Given the description of an element on the screen output the (x, y) to click on. 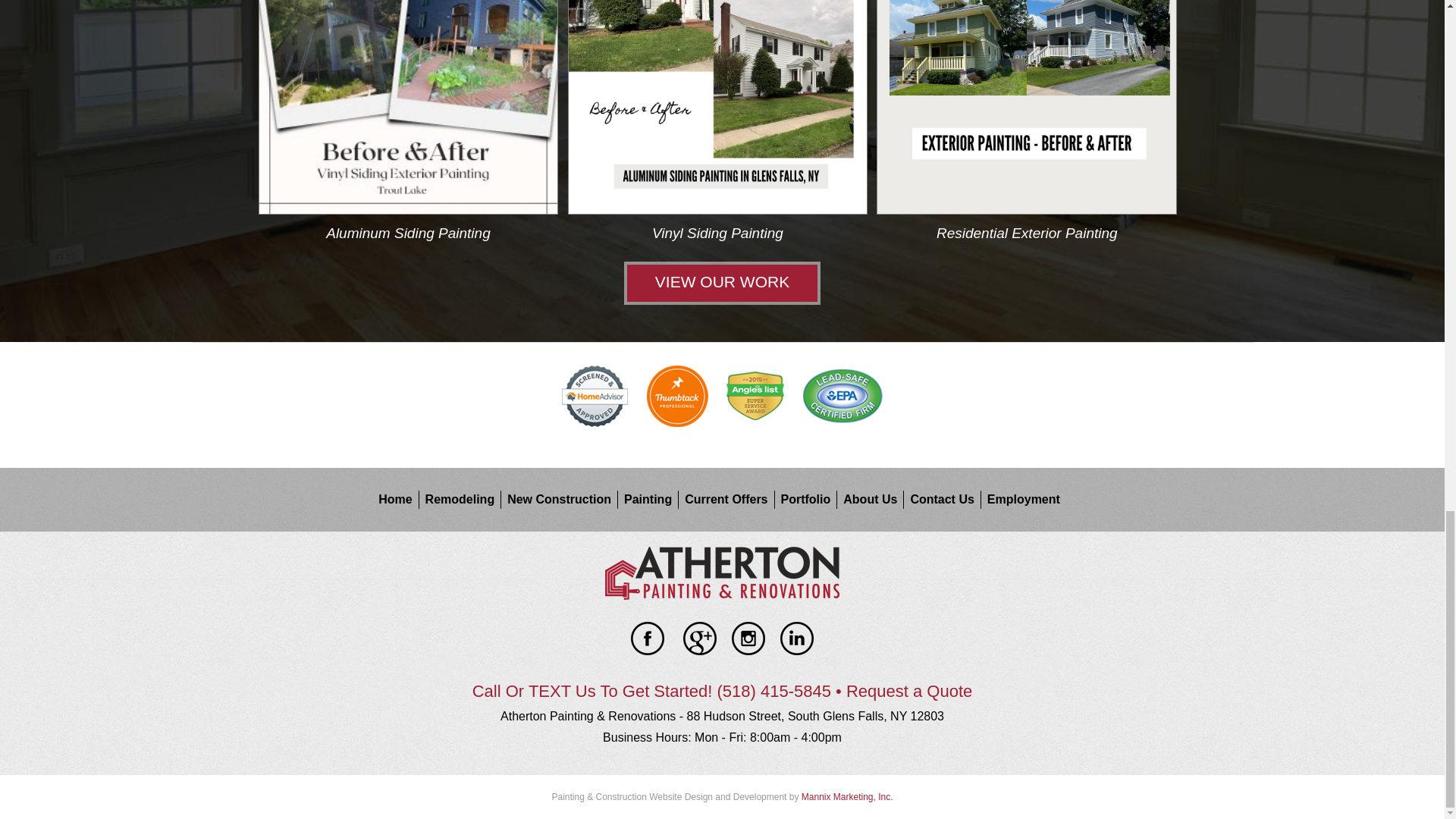
Home (398, 499)
Portfolio (809, 499)
Employment (1023, 499)
VIEW OUR WORK (721, 283)
About Us (873, 499)
Contact Us (944, 499)
Remodeling (463, 499)
Request a Quote (908, 691)
Painting (651, 499)
Current Offers (729, 499)
New Construction (561, 499)
Mannix Marketing, Inc. (847, 796)
